Given the description of an element on the screen output the (x, y) to click on. 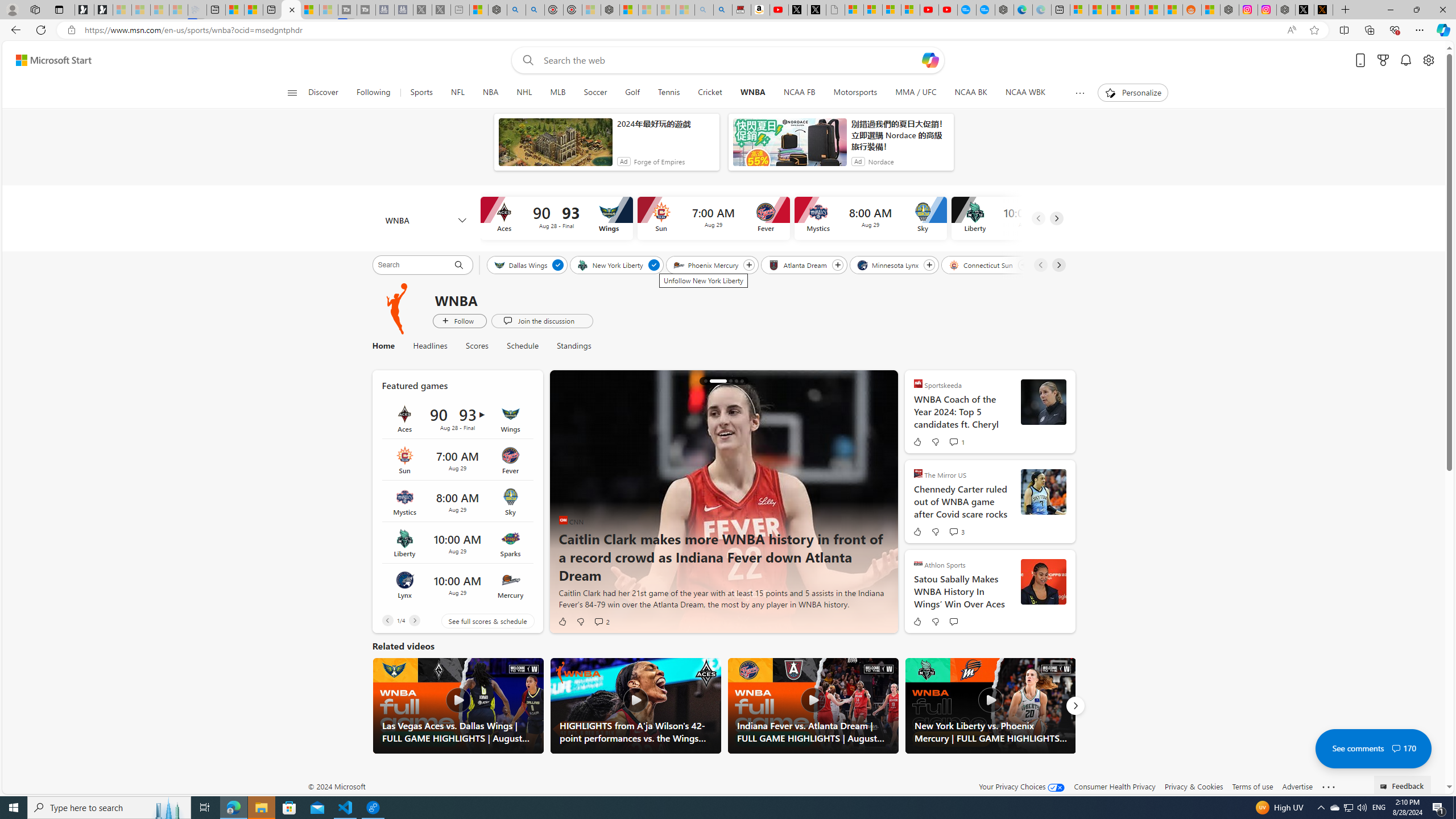
Streaming Coverage | T3 - Sleeping (347, 9)
